Given the description of an element on the screen output the (x, y) to click on. 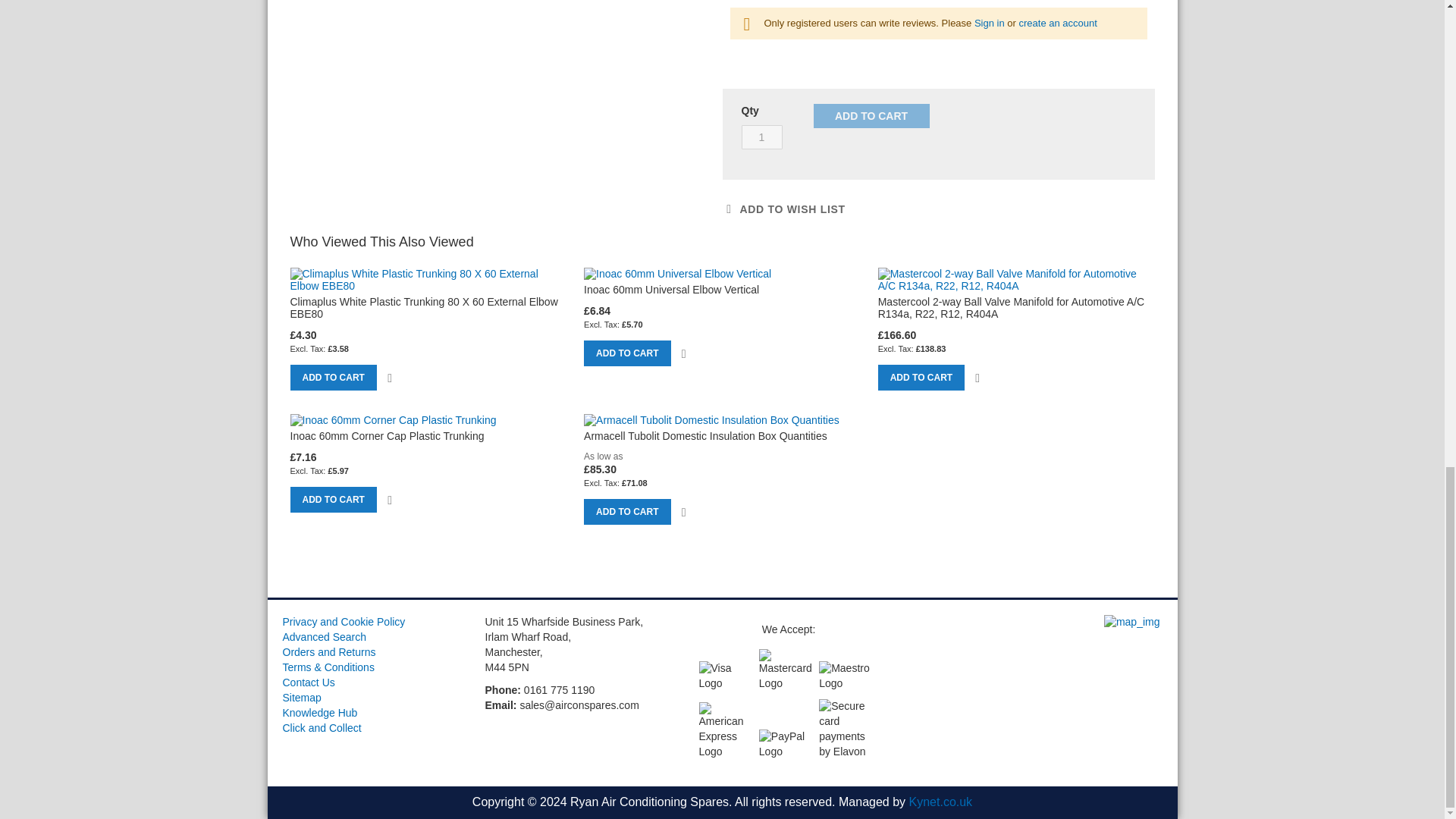
1 (762, 137)
Qty (762, 137)
Add to Cart (332, 377)
Add to Cart (870, 115)
